Given the description of an element on the screen output the (x, y) to click on. 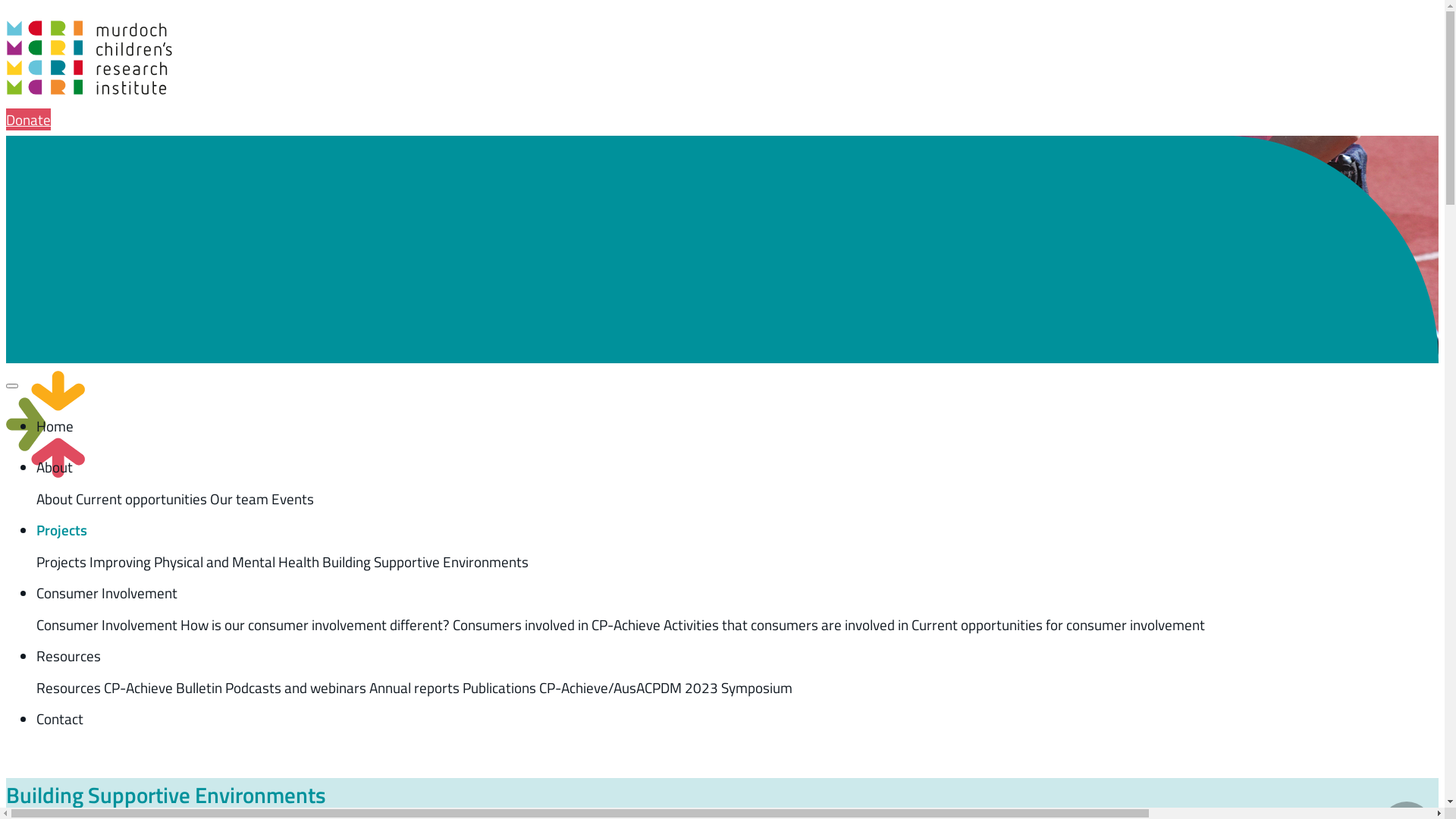
About Element type: text (54, 498)
Donate Element type: text (28, 119)
CP-Achieve/AusACPDM 2023 Symposium Element type: text (665, 687)
Resources Element type: text (68, 655)
Activities that consumers are involved in Element type: text (785, 624)
Home Element type: text (54, 425)
Consumers involved in CP-Achieve Element type: text (557, 624)
Consumer Involvement Element type: text (106, 624)
Building Supportive Environments Element type: text (425, 561)
Improving Physical and Mental Health Element type: text (204, 561)
Publications Element type: text (499, 687)
CP-Achieve Bulletin Element type: text (162, 687)
Consumer Involvement Element type: text (106, 592)
Our team Element type: text (239, 498)
About Element type: text (54, 466)
Annual reports Element type: text (414, 687)
Current opportunities Element type: text (141, 498)
Contact Element type: text (59, 718)
Podcasts and webinars Element type: text (295, 687)
Resources Element type: text (68, 687)
How is our consumer involvement different? Element type: text (316, 624)
Projects Element type: text (61, 529)
Events Element type: text (292, 498)
Projects Element type: text (61, 561)
Current opportunities for consumer involvement Element type: text (1057, 624)
